Given the description of an element on the screen output the (x, y) to click on. 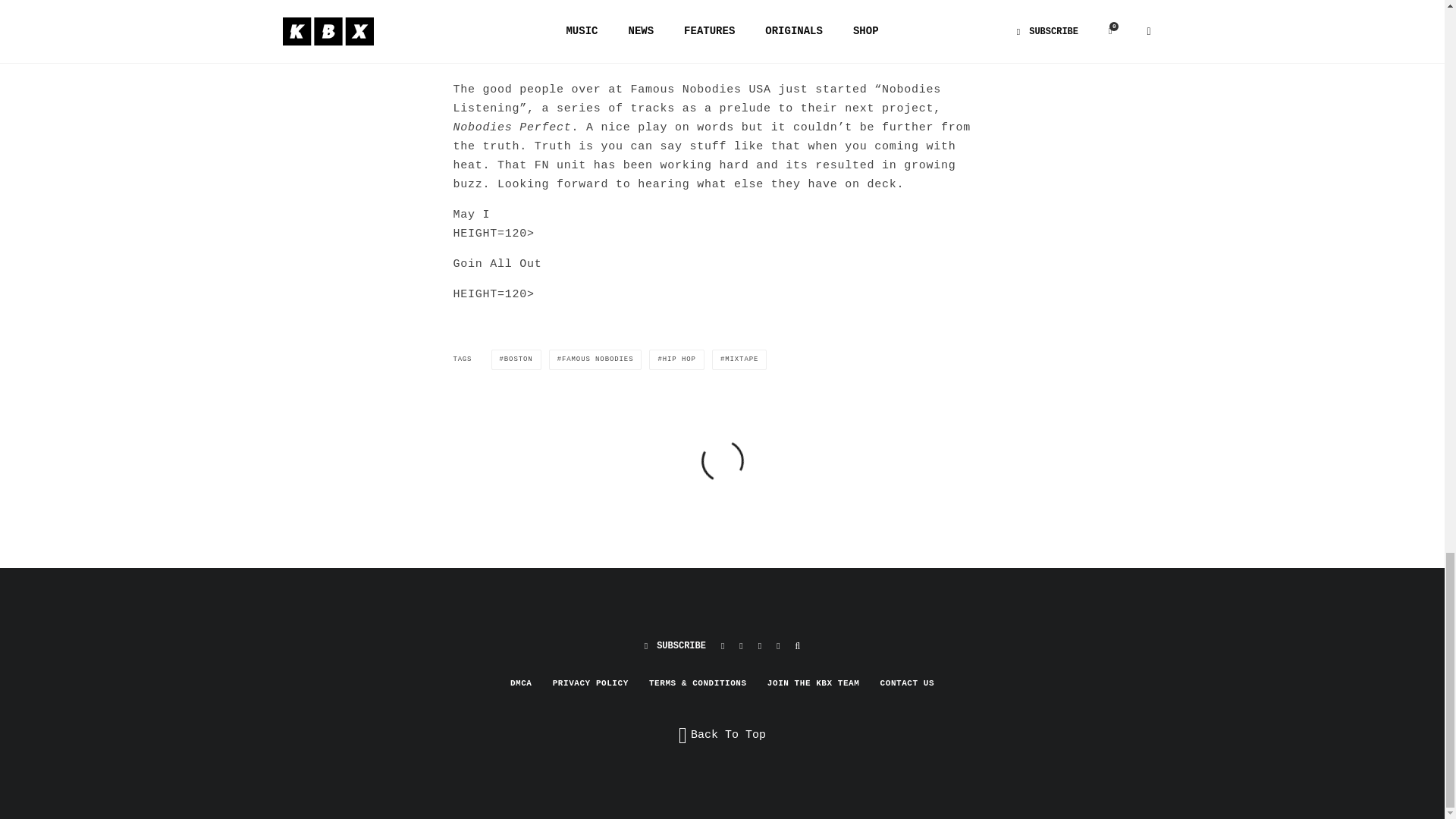
PRIVACY POLICY (590, 683)
Back To Top (722, 734)
HIP HOP (676, 359)
SUBSCRIBE (675, 645)
DMCA (521, 683)
JOIN THE KBX TEAM (813, 683)
MIXTAPE (739, 359)
BOSTON (516, 359)
CONTACT US (907, 683)
FAMOUS NOBODIES (595, 359)
